Given the description of an element on the screen output the (x, y) to click on. 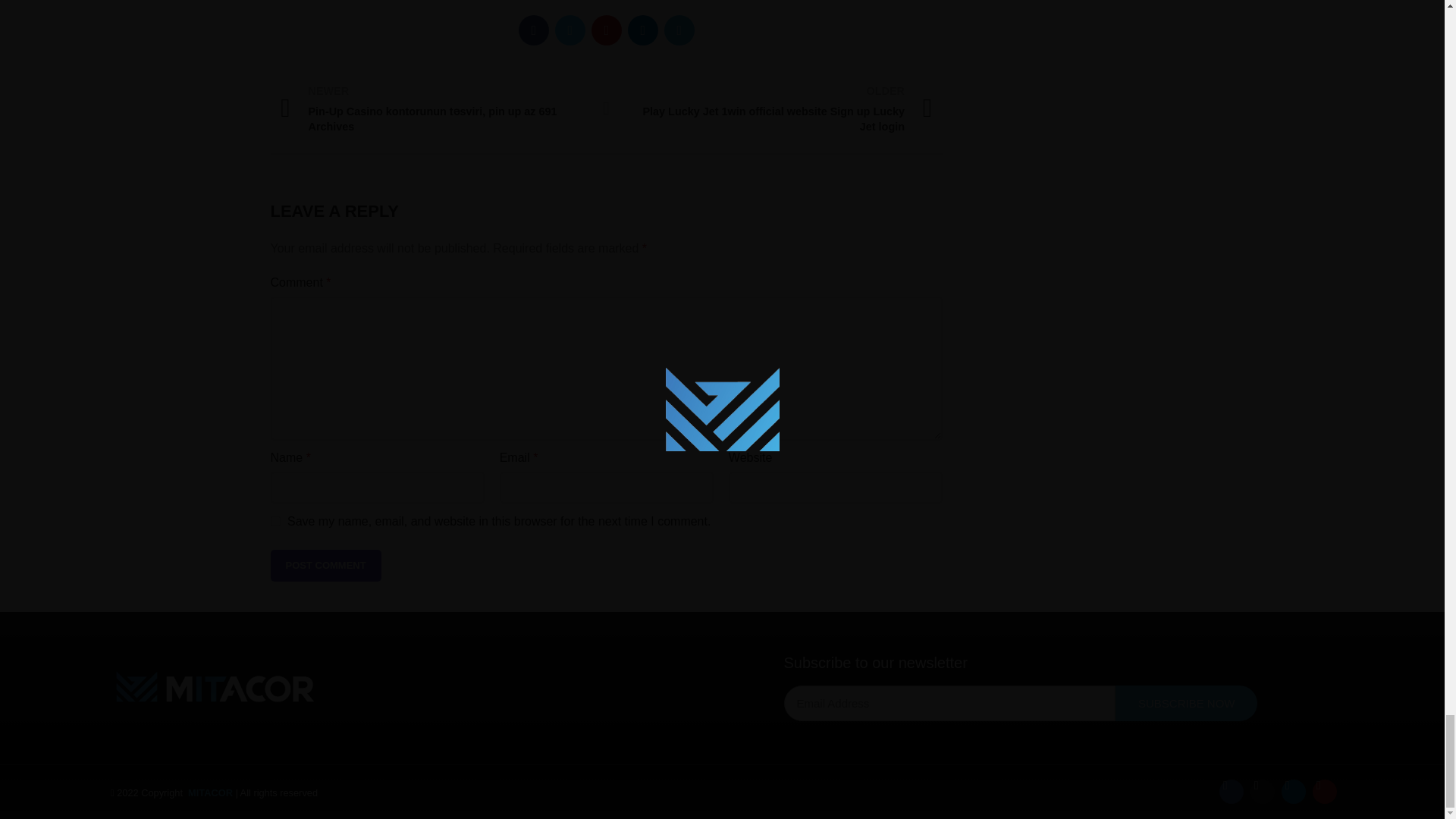
yes (274, 521)
Post Comment (324, 565)
Post Comment (324, 565)
Back to list (606, 108)
